Given the description of an element on the screen output the (x, y) to click on. 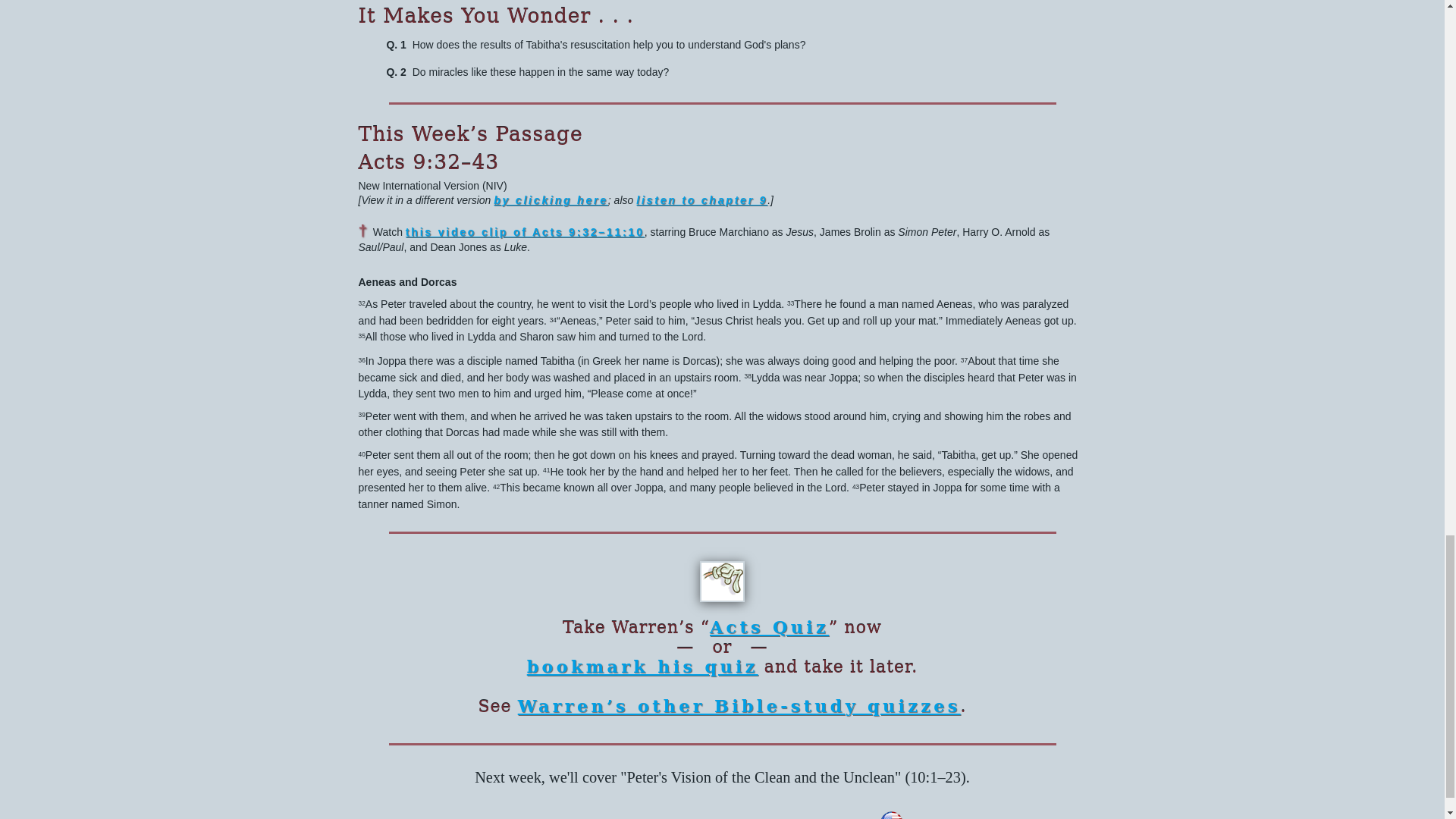
by clicking here (550, 200)
listen to chapter 9 (701, 200)
